Given the description of an element on the screen output the (x, y) to click on. 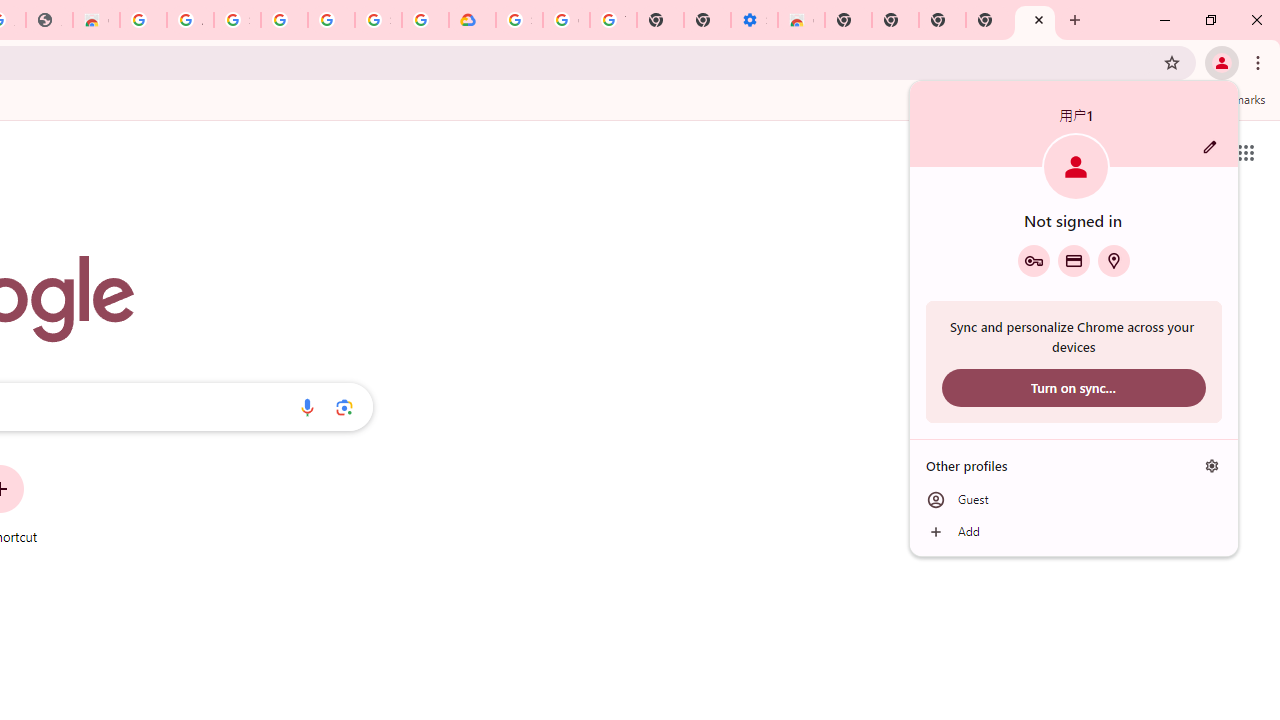
Customize profile (1210, 147)
Addresses and more (1114, 260)
Chrome Web Store - Accessibility extensions (801, 20)
Add (1073, 531)
Ad Settings (189, 20)
Settings - Accessibility (754, 20)
Google Account Help (566, 20)
